Given the description of an element on the screen output the (x, y) to click on. 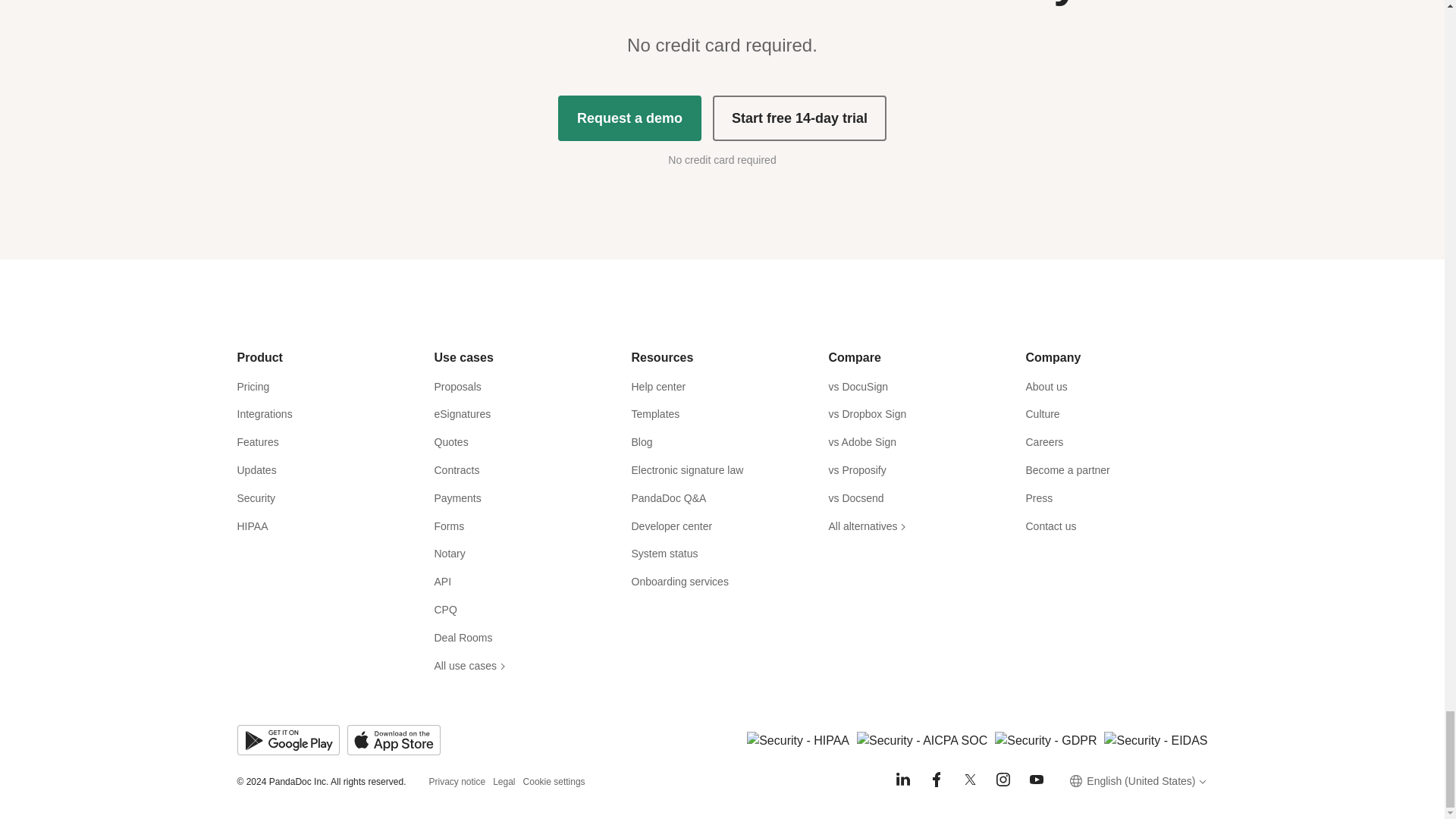
Instagram (1002, 779)
Youtube (1036, 779)
LinkedIn (902, 779)
Facebook (935, 779)
Twitter (969, 779)
